Given the description of an element on the screen output the (x, y) to click on. 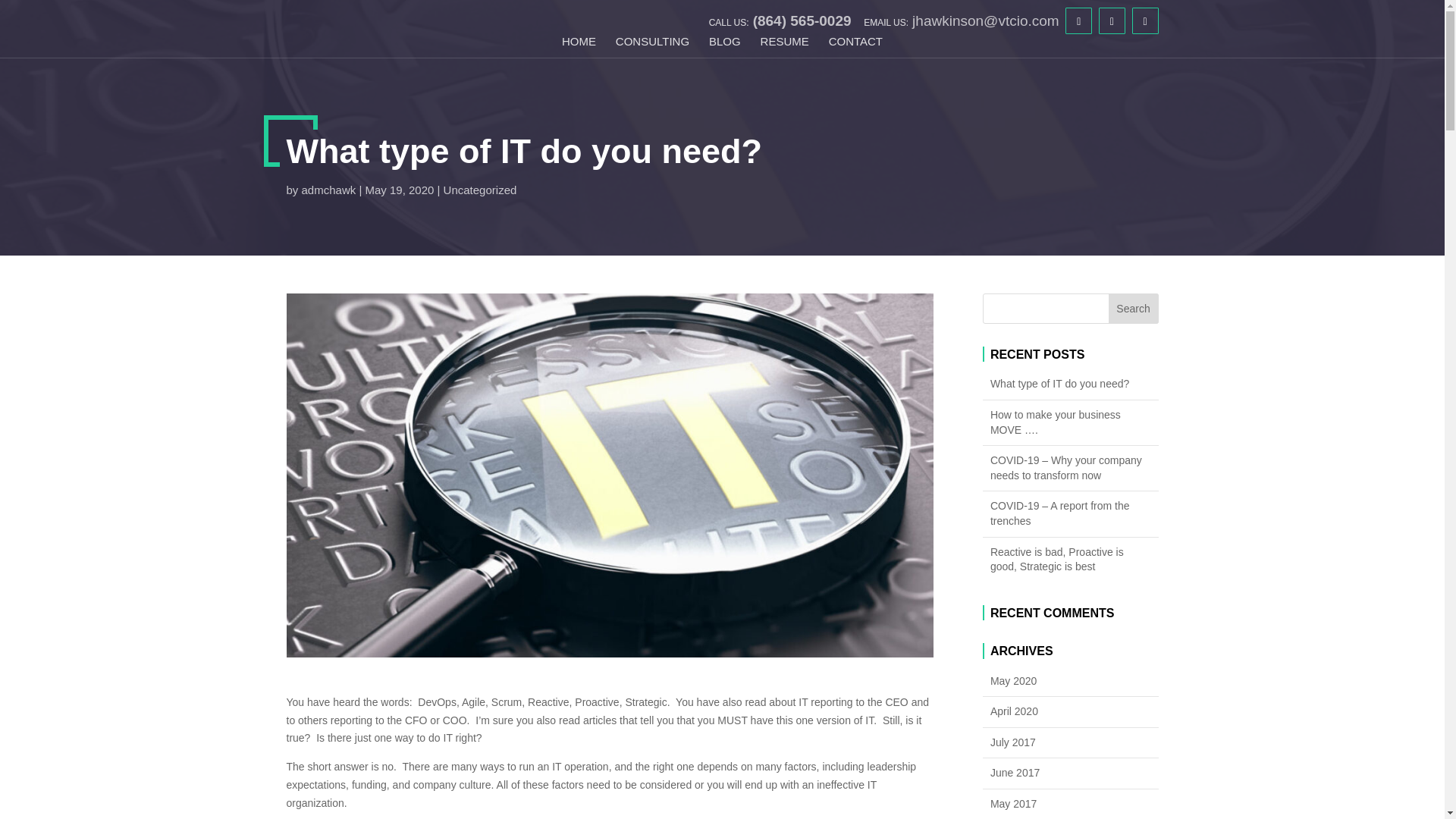
admchawk (328, 189)
Uncategorized (480, 189)
Posts by admchawk (328, 189)
CONTACT (855, 46)
April 2020 (1070, 711)
BLOG (725, 46)
RESUME (784, 46)
May 2020 (1070, 681)
What type of IT do you need? (1070, 384)
Search (1133, 308)
